Given the description of an element on the screen output the (x, y) to click on. 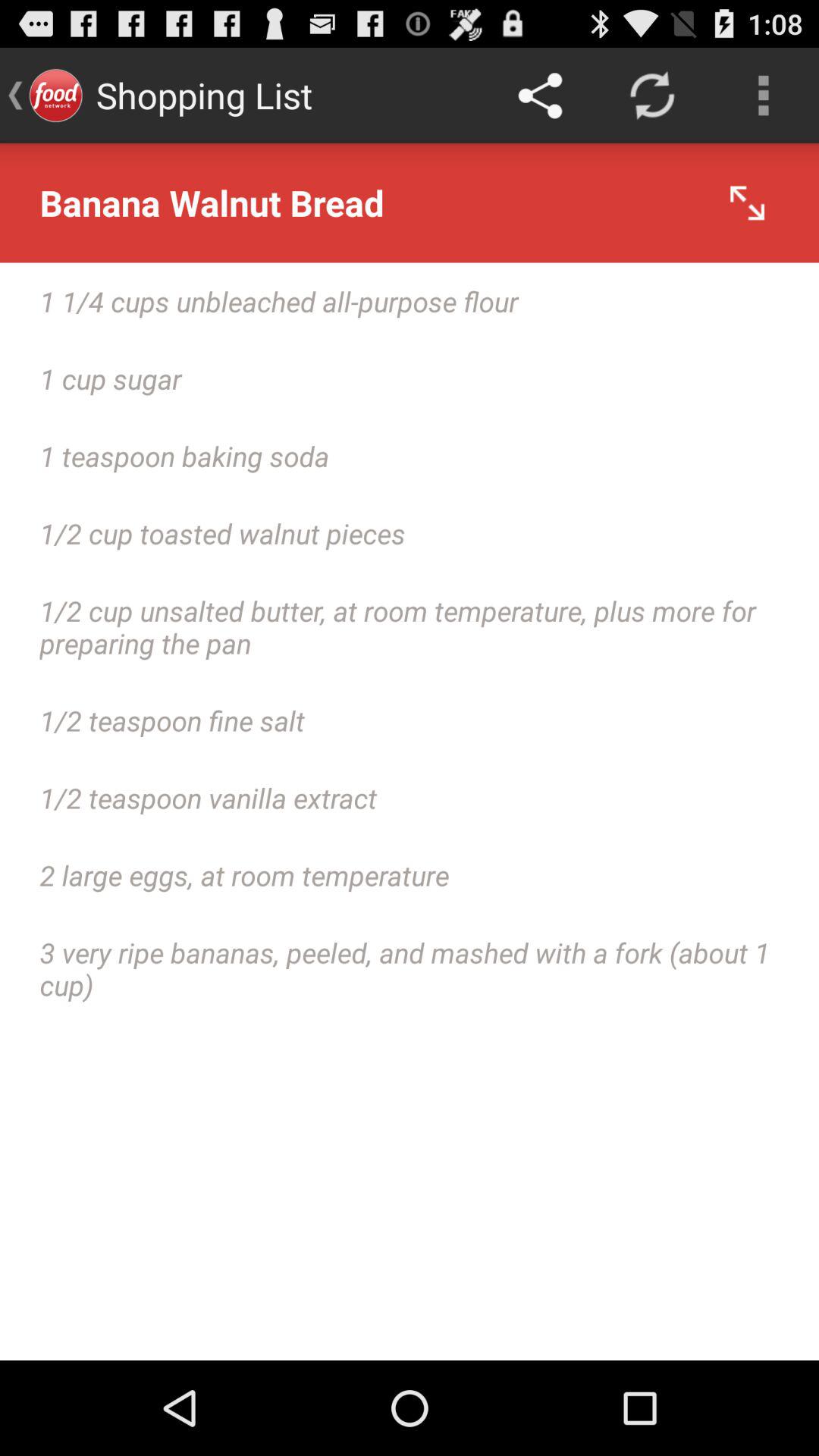
tap the app above banana walnut bread (763, 95)
